Given the description of an element on the screen output the (x, y) to click on. 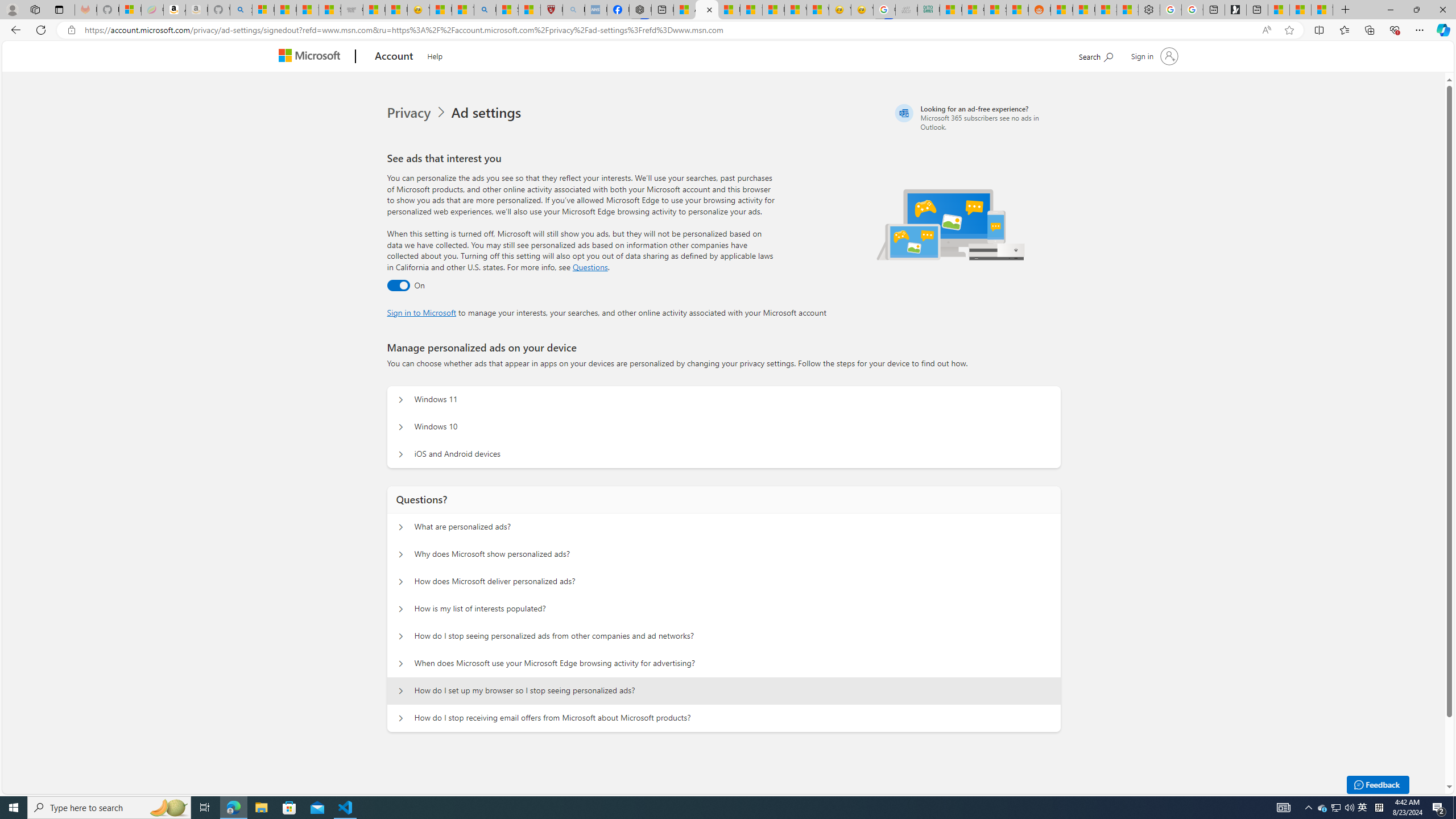
Microsoft (311, 56)
Ad settings (488, 112)
Questions? How is my list of interests populated? (401, 608)
Fitness - MSN (773, 9)
